Given the description of an element on the screen output the (x, y) to click on. 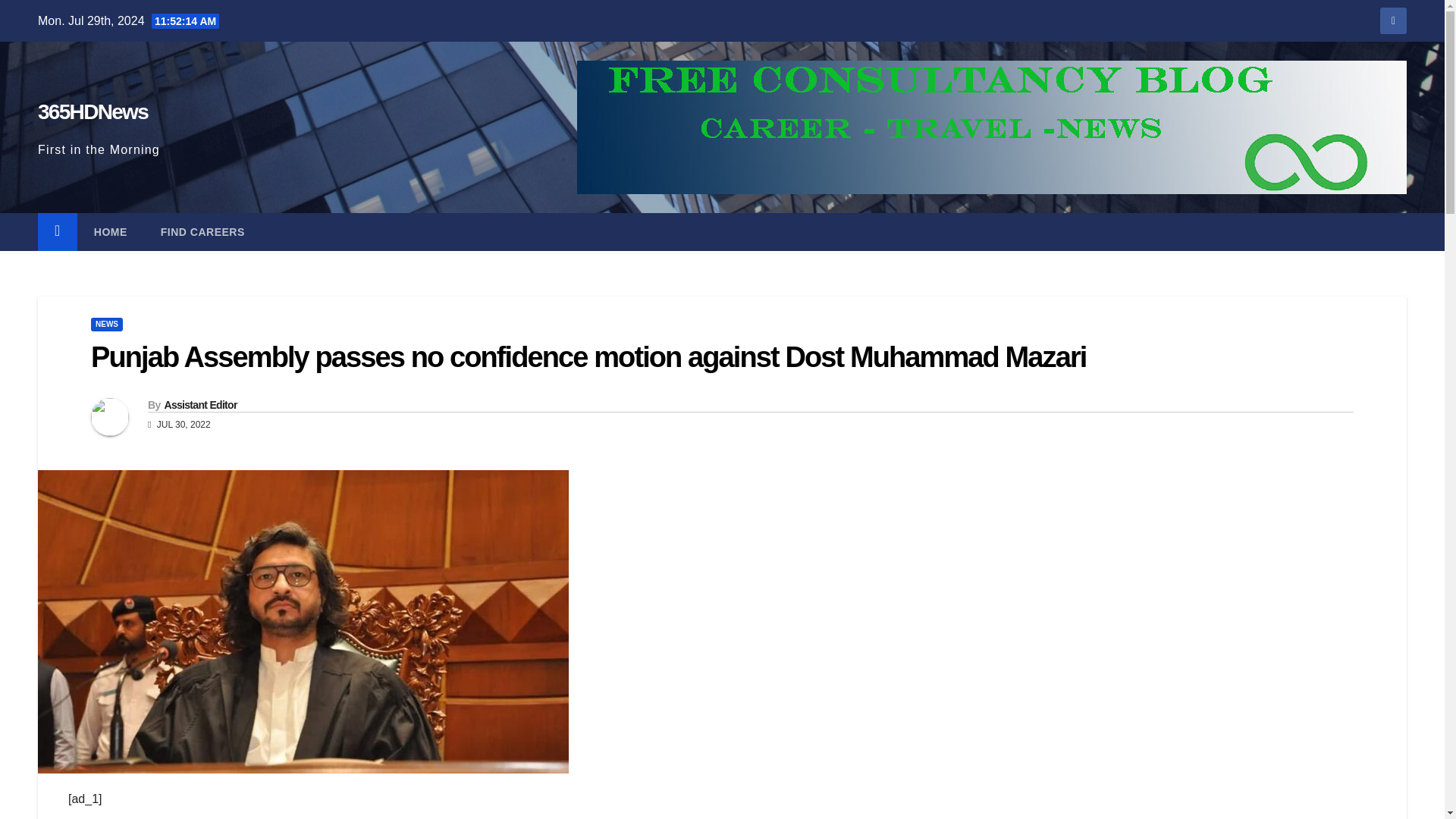
HOME (110, 231)
Find Careers (203, 231)
Home (110, 231)
FIND CAREERS (203, 231)
Assistant Editor (199, 404)
365HDNews (92, 111)
NEWS (106, 324)
